Given the description of an element on the screen output the (x, y) to click on. 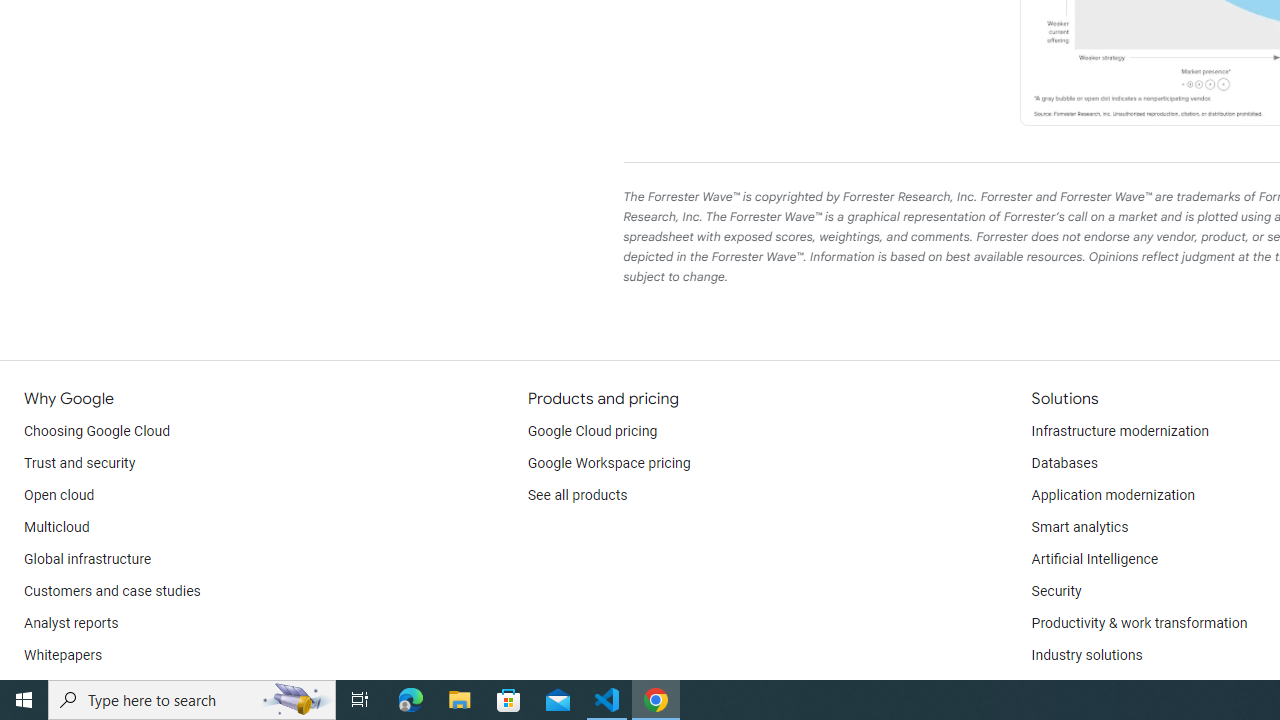
Whitepapers (63, 655)
Smart analytics (1079, 527)
Databases (1064, 463)
Application modernization (1112, 495)
Productivity & work transformation (1139, 623)
Customers and case studies (112, 591)
DevOps solutions (1085, 687)
Global infrastructure (88, 560)
Blog (38, 687)
Google Workspace pricing (609, 463)
Trust and security (79, 463)
See all products (577, 495)
Security (1055, 591)
Open cloud (59, 495)
